Given the description of an element on the screen output the (x, y) to click on. 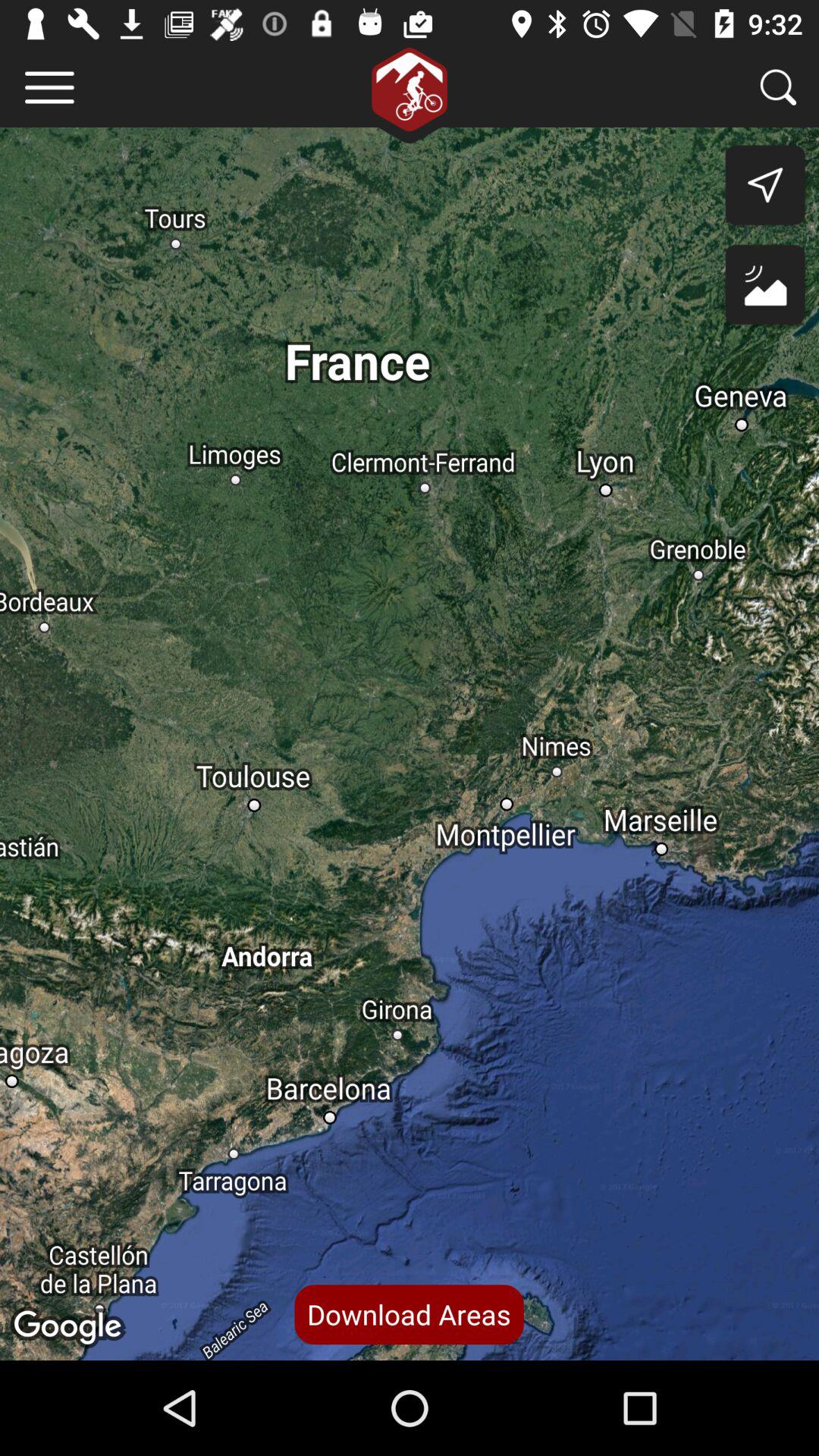
turn off the download areas icon (408, 1314)
